Given the description of an element on the screen output the (x, y) to click on. 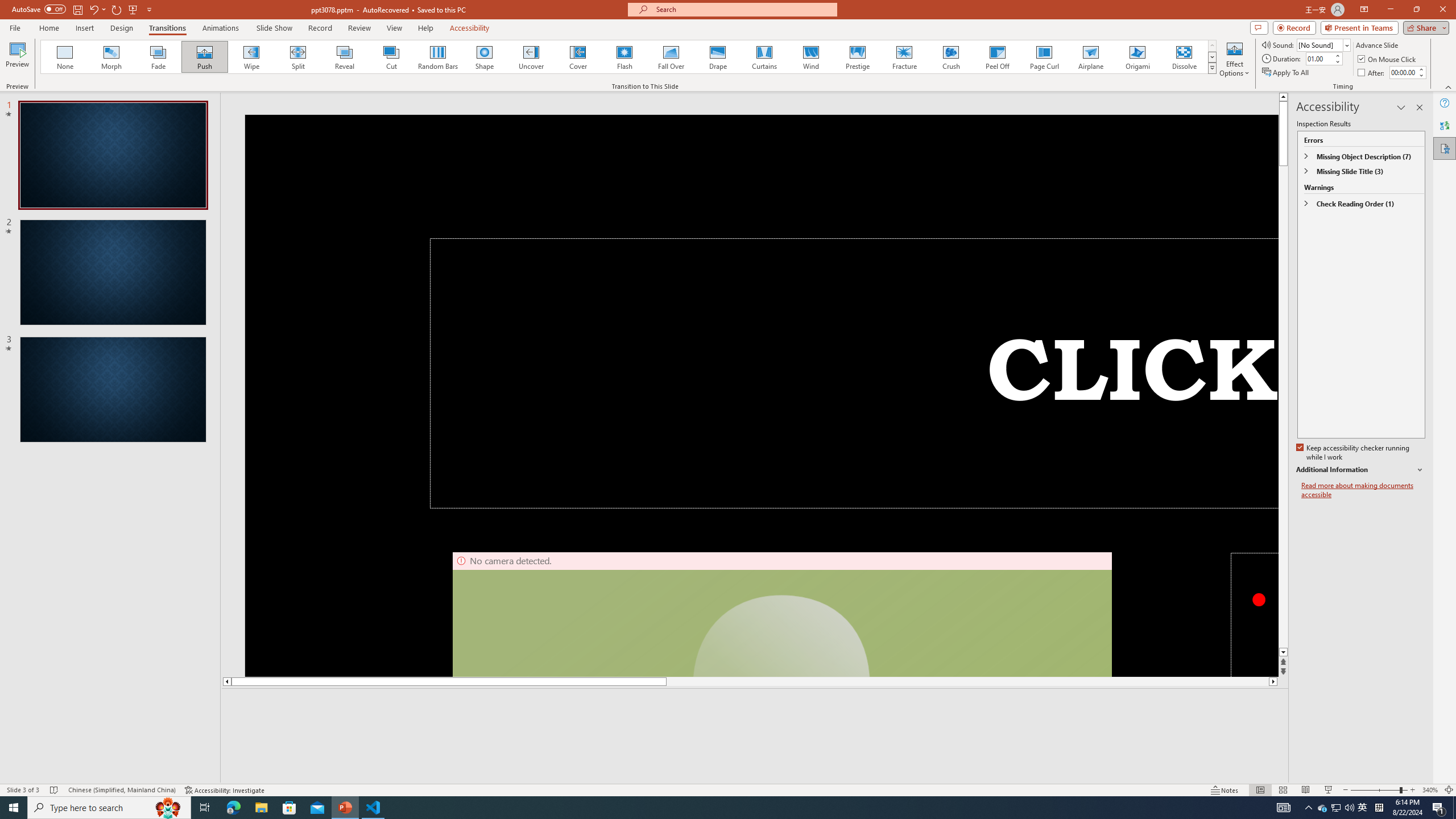
Drape (717, 56)
Dissolve (1183, 56)
Keep accessibility checker running while I work (1353, 452)
Page Curl (1043, 56)
Transition Effects (1212, 67)
Origami (1136, 56)
AutomationID: AnimationTransitionGallery (628, 56)
Page down (1283, 406)
None (65, 56)
Morph (111, 56)
